Given the description of an element on the screen output the (x, y) to click on. 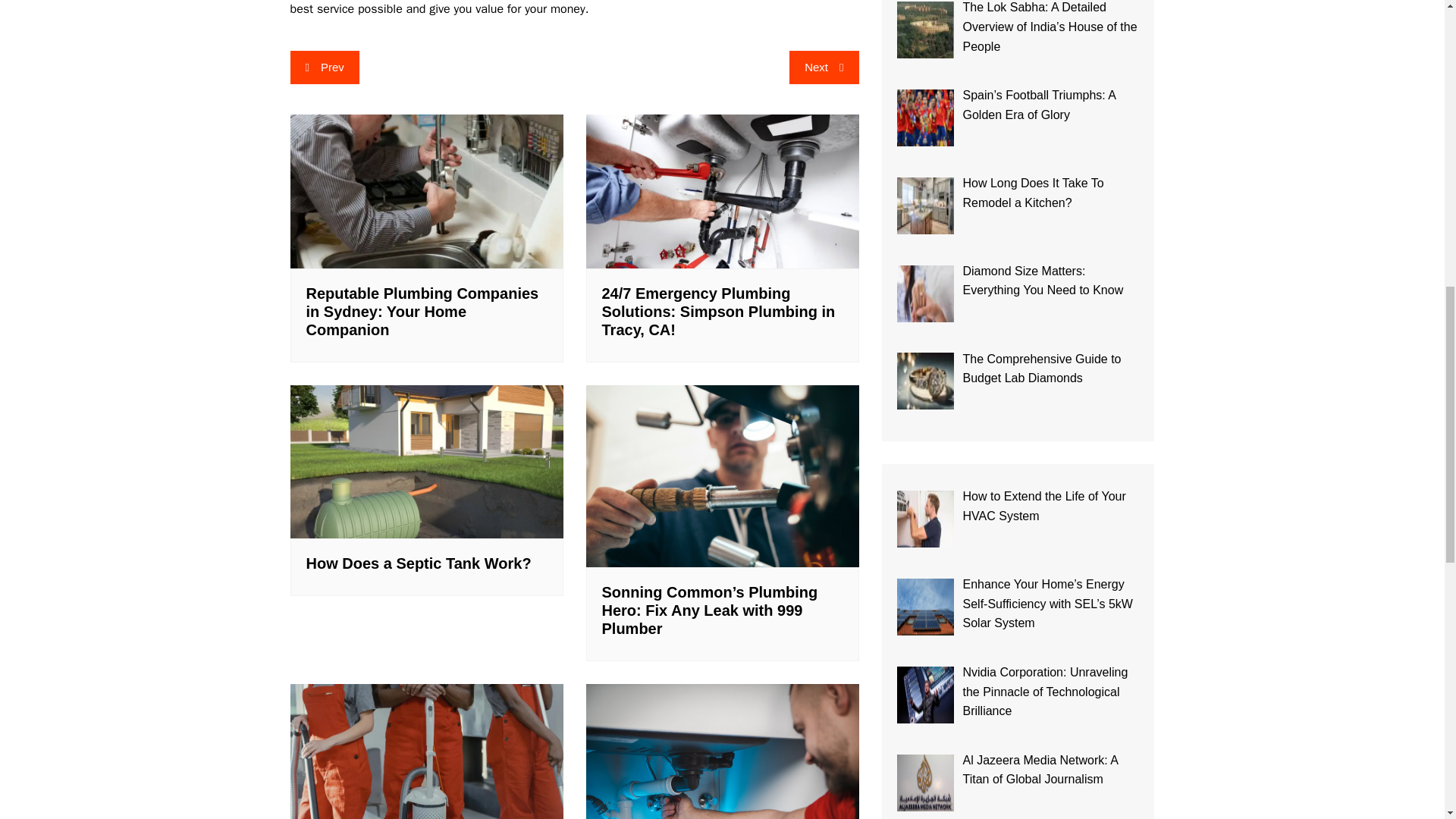
Reputable Plumbing Companies in Sydney: Your Home Companion (425, 191)
Kendale Lakes (425, 751)
How Does a Septic Tank Work? (418, 563)
Reputable Plumbing Companies in Sydney: Your Home Companion (421, 311)
The Comprehensive Guide to Budget Lab Diamonds (924, 380)
Prev (323, 67)
Finding the Perfect Fit: Selecting a Plumber in Maidstone (722, 751)
How Long Does It Take To Remodel a Kitchen? (924, 205)
How to Extend the Life of Your HVAC System (924, 518)
Next (824, 67)
